Given the description of an element on the screen output the (x, y) to click on. 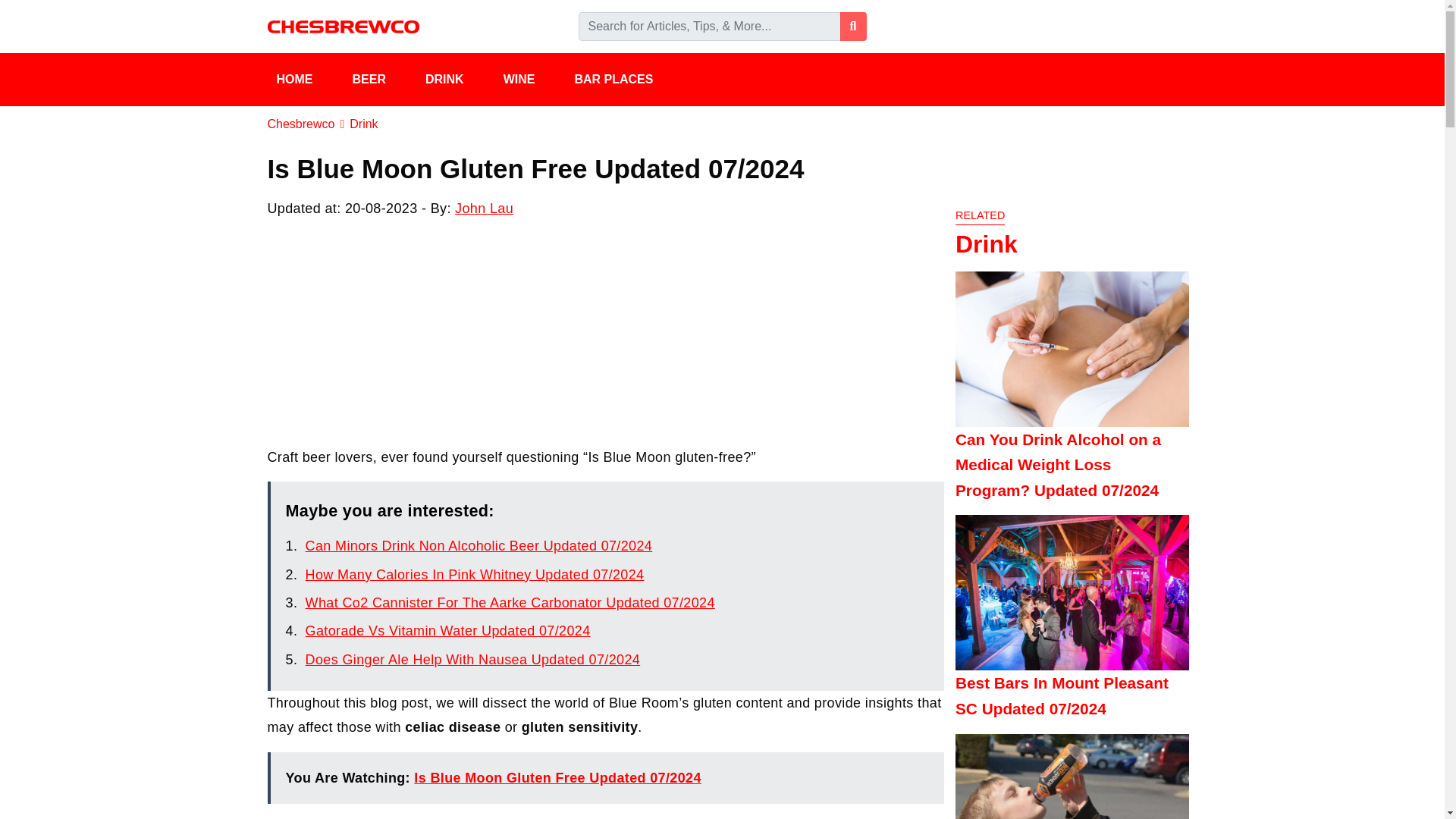
Go to the Drink Category archives. (363, 123)
DRINK (455, 79)
BAR PLACES (623, 79)
Drink (363, 123)
John Lau (483, 207)
Chesbrewco (300, 123)
BEER (378, 79)
WINE (530, 79)
Go to Chesbrewco. (300, 123)
HOME (304, 79)
